Given the description of an element on the screen output the (x, y) to click on. 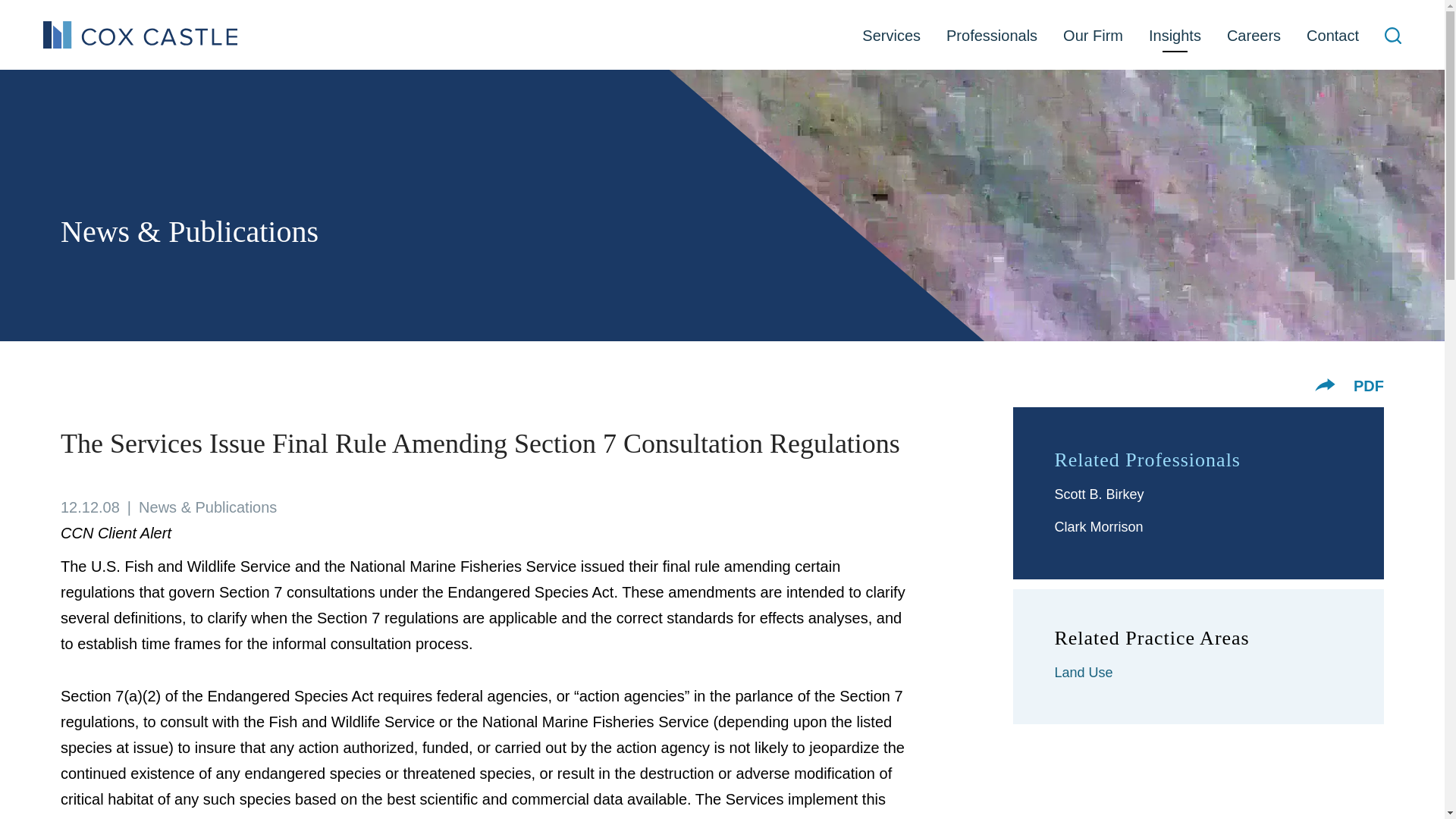
Professionals (991, 35)
Land Use (1083, 672)
Our Firm (1092, 35)
Insights (1174, 35)
Main Content (674, 17)
Search (1392, 37)
Menu (680, 17)
Main Menu (680, 17)
Services (890, 35)
Clark Morrison (1098, 526)
PDF (1369, 385)
Share (1324, 384)
Careers (1254, 35)
Contact (1332, 35)
Search (1392, 35)
